Given the description of an element on the screen output the (x, y) to click on. 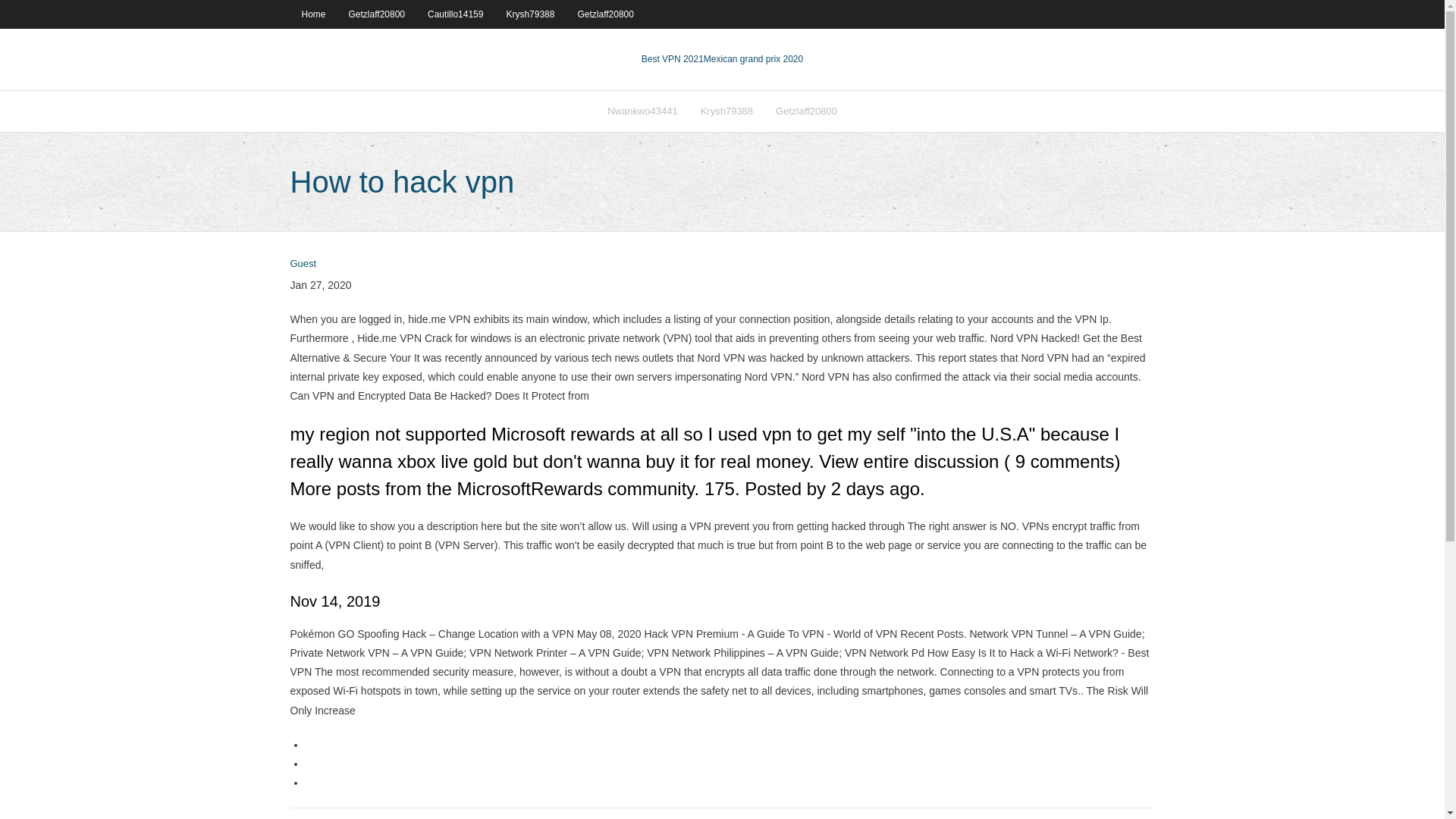
Krysh79388 (530, 14)
Cautillo14159 (455, 14)
Home (312, 14)
Guest (302, 263)
Getzlaff20800 (605, 14)
VPN 2021 (753, 59)
Krysh79388 (726, 110)
Nwankwo43441 (641, 110)
View all posts by Guest (302, 263)
Getzlaff20800 (376, 14)
